Given the description of an element on the screen output the (x, y) to click on. 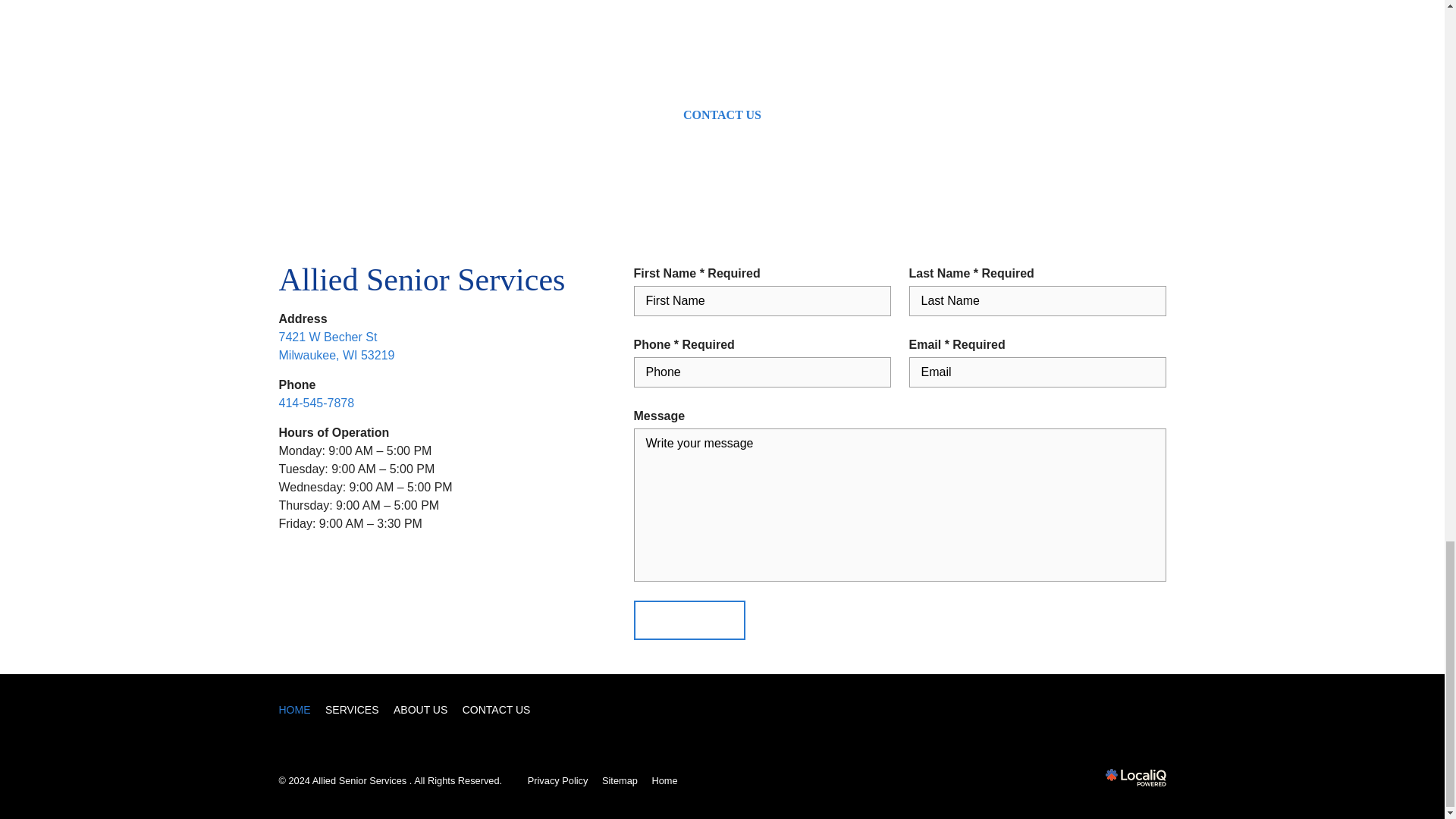
Submit (689, 619)
414-545-7878 (317, 402)
CONTACT US (721, 115)
ABOUT US (336, 345)
SERVICES (419, 709)
Submit (351, 709)
HOME (689, 619)
